Given the description of an element on the screen output the (x, y) to click on. 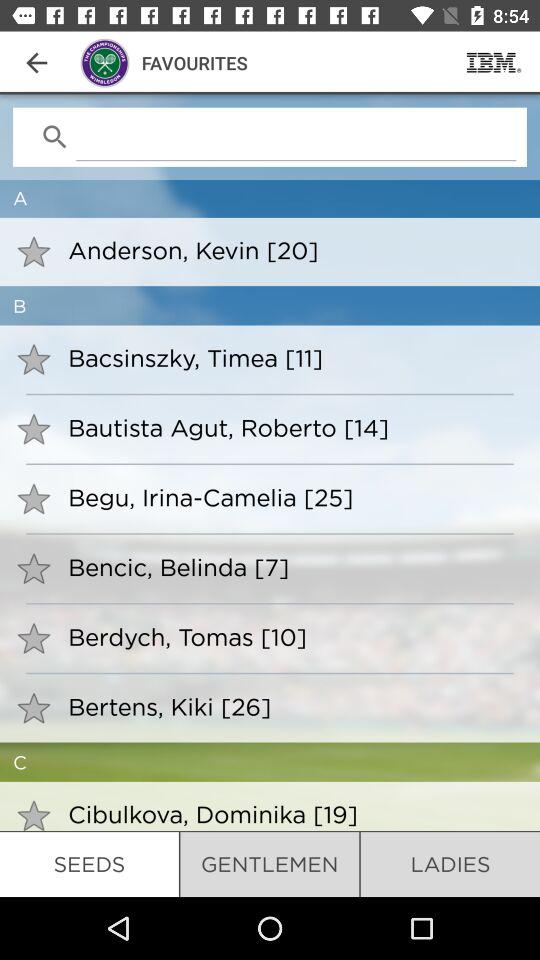
launch icon above b (290, 250)
